Given the description of an element on the screen output the (x, y) to click on. 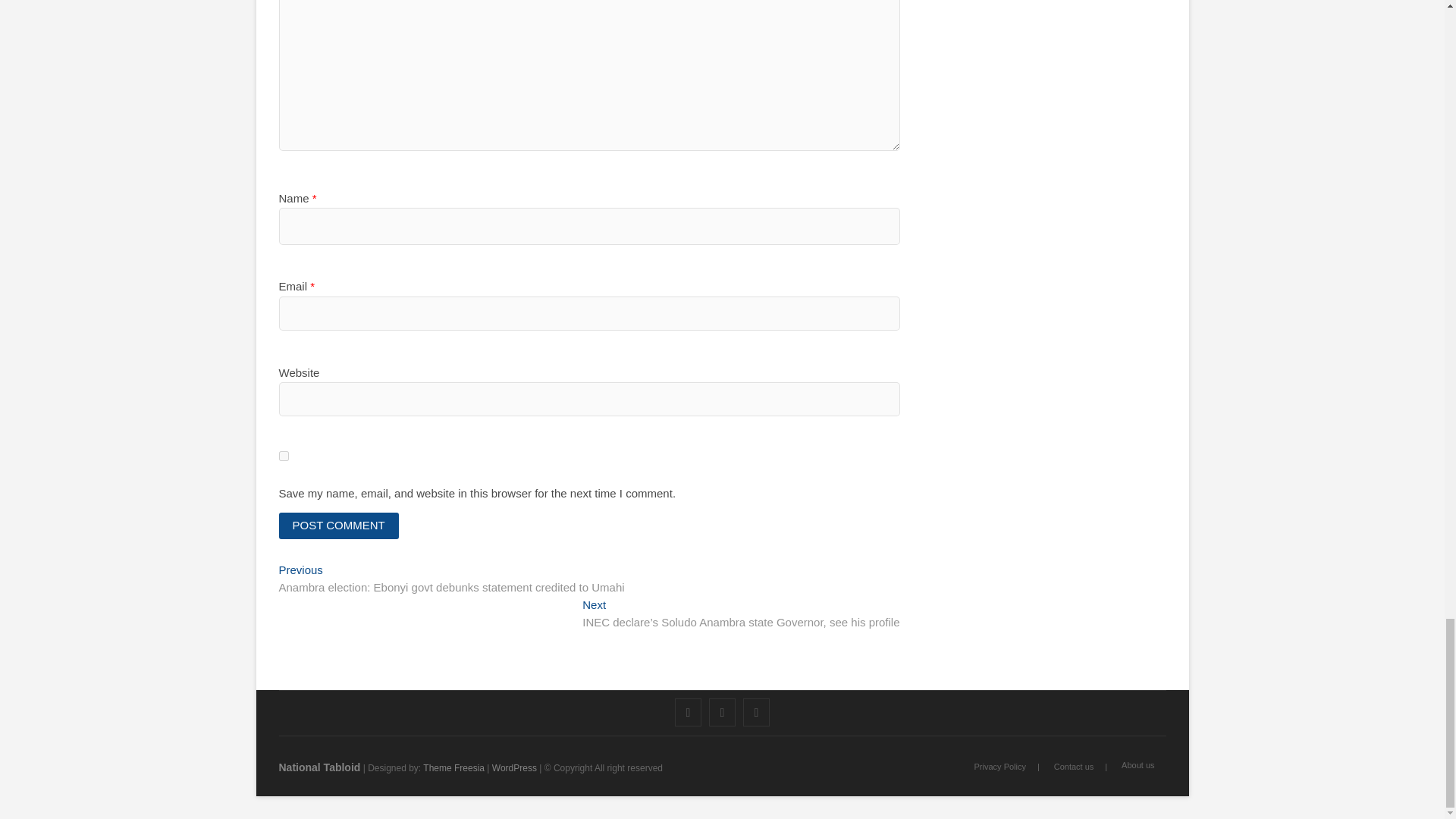
Post Comment (338, 525)
yes (283, 456)
WordPress (514, 767)
National Tabloid (320, 767)
Theme Freesia (453, 767)
Post Comment (338, 525)
